Given the description of an element on the screen output the (x, y) to click on. 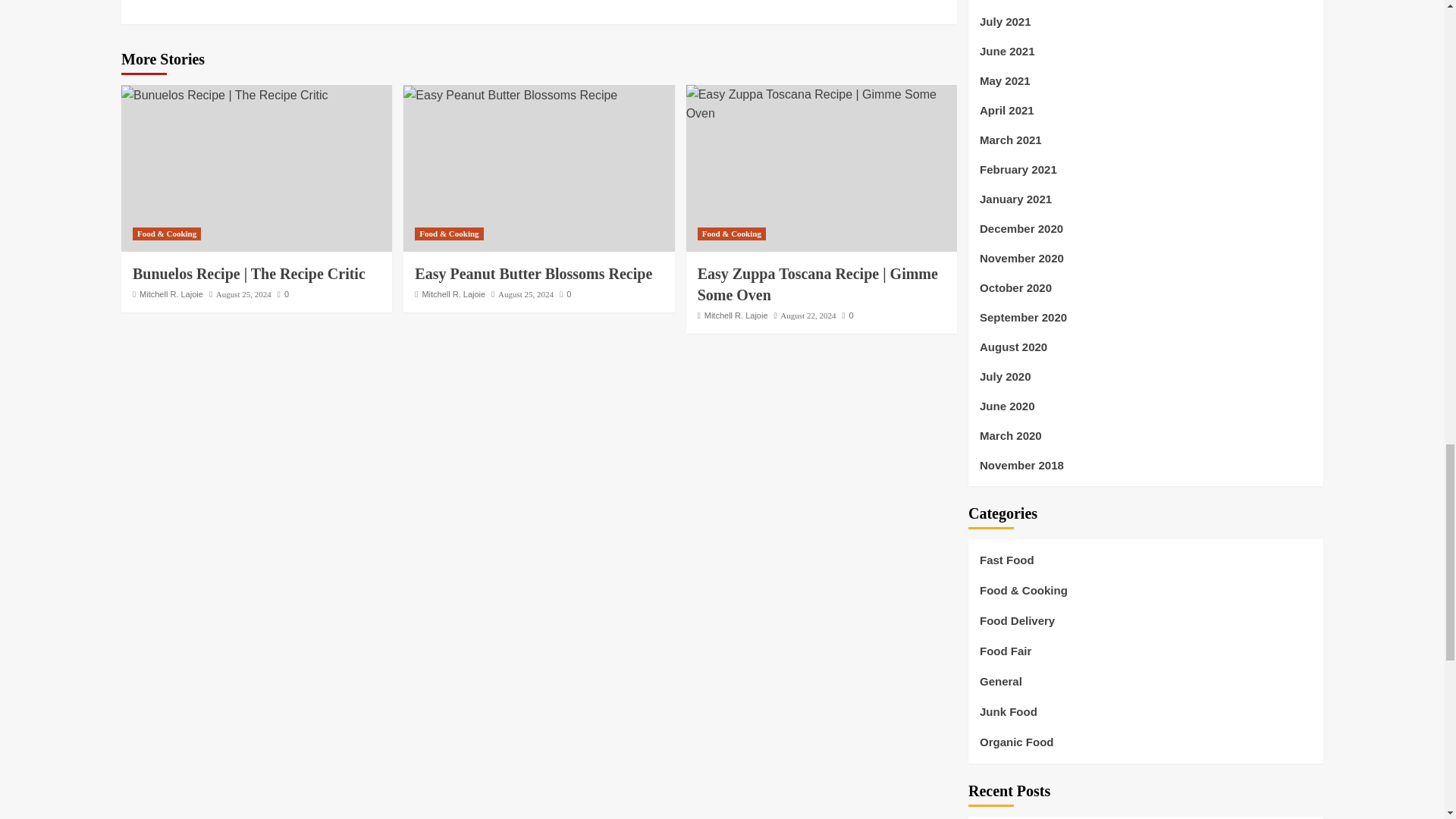
0 (283, 293)
Mitchell R. Lajoie (453, 293)
Easy Peanut Butter Blossoms Recipe (533, 273)
Easy Peanut Butter Blossoms Recipe (510, 95)
August 25, 2024 (242, 293)
Mitchell R. Lajoie (171, 293)
August 25, 2024 (525, 293)
